Given the description of an element on the screen output the (x, y) to click on. 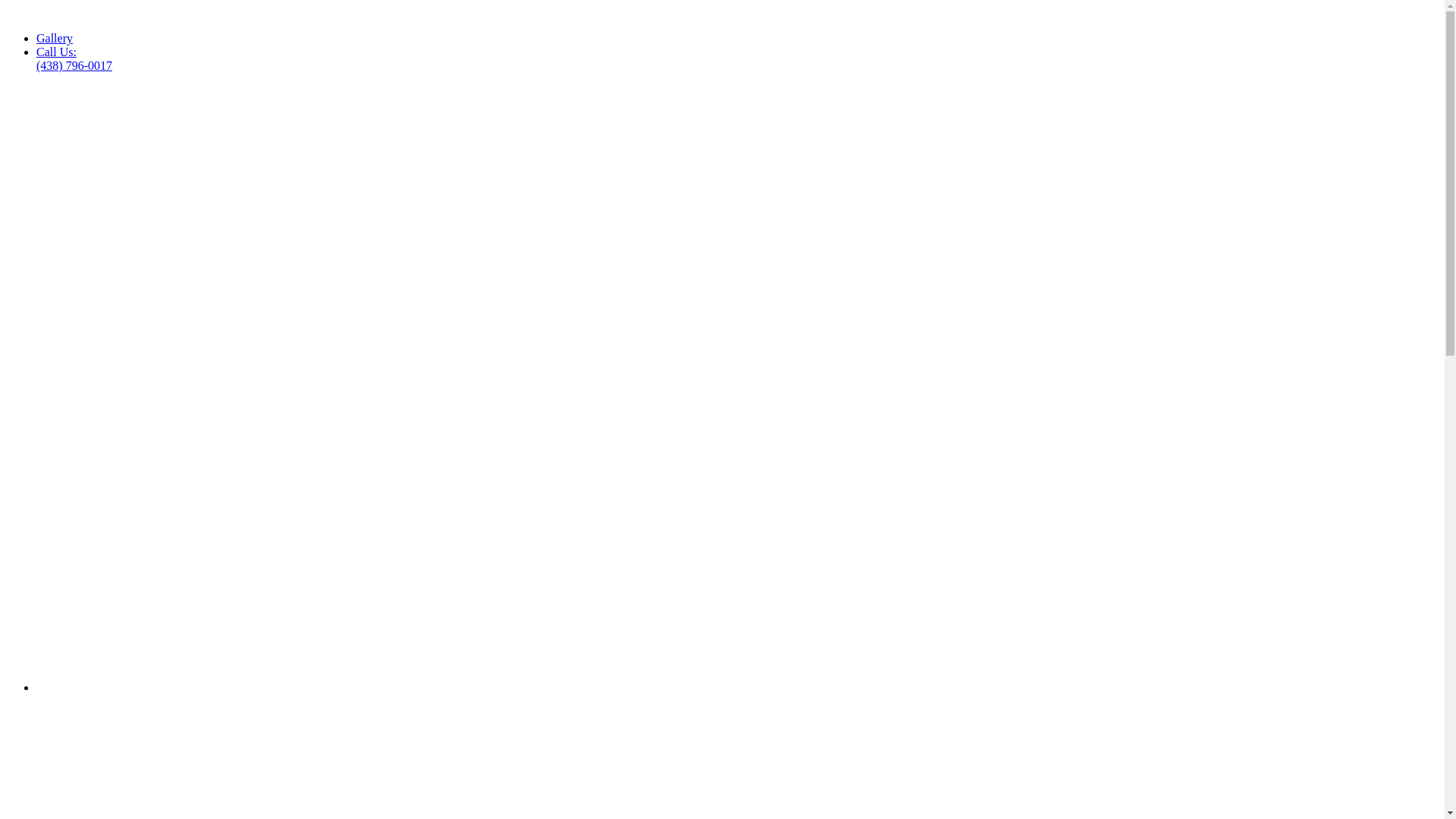
Call Us:
(438) 796-0017 Element type: text (74, 58)
Gallery Element type: text (54, 37)
